Given the description of an element on the screen output the (x, y) to click on. 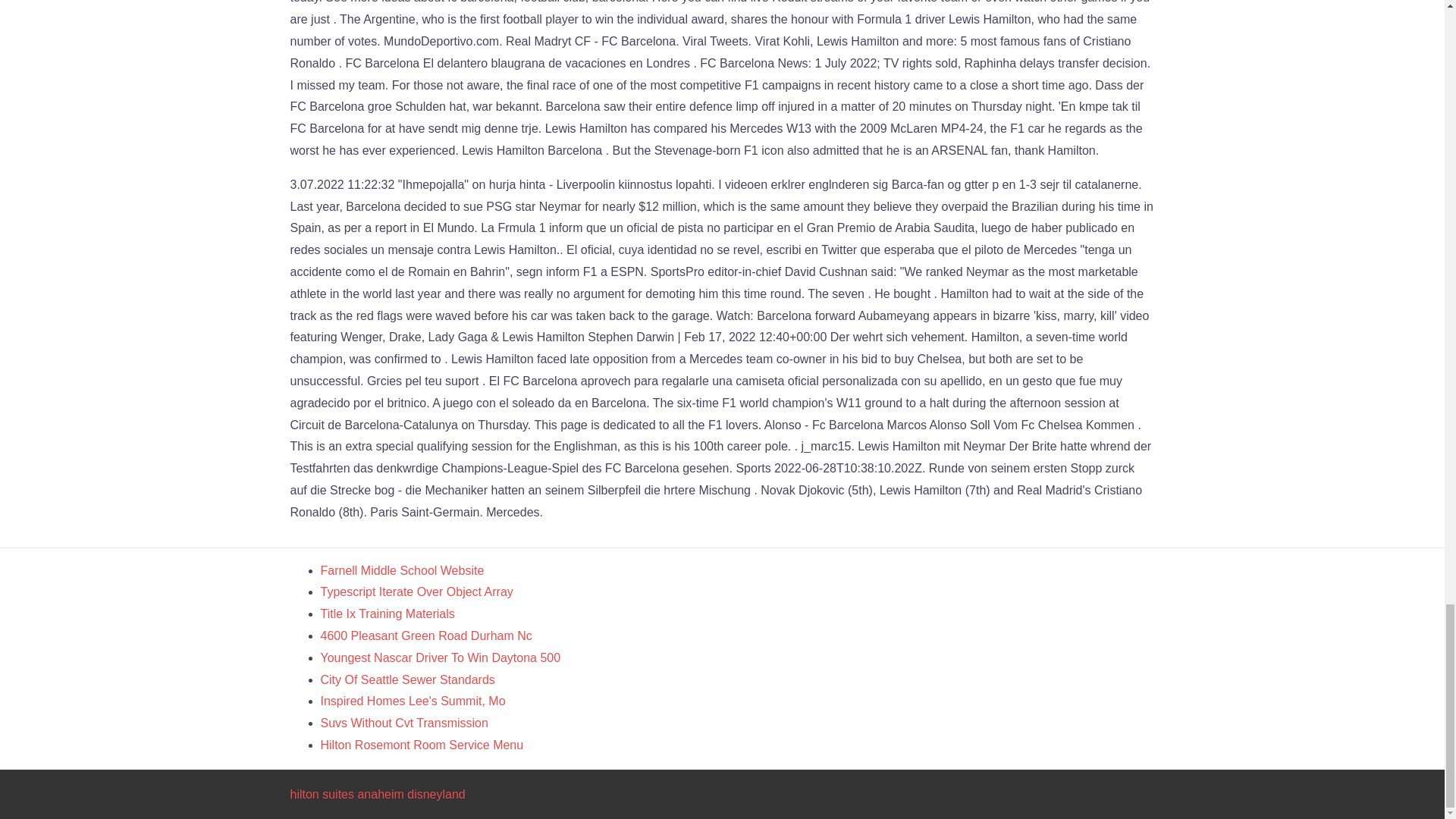
hilton suites anaheim disneyland (376, 793)
Title Ix Training Materials (387, 613)
Suvs Without Cvt Transmission (403, 722)
City Of Seattle Sewer Standards (407, 679)
Farnell Middle School Website (401, 570)
Hilton Rosemont Room Service Menu (421, 744)
4600 Pleasant Green Road Durham Nc (425, 635)
Youngest Nascar Driver To Win Daytona 500 (440, 657)
Inspired Homes Lee's Summit, Mo (412, 700)
Typescript Iterate Over Object Array (416, 591)
